Given the description of an element on the screen output the (x, y) to click on. 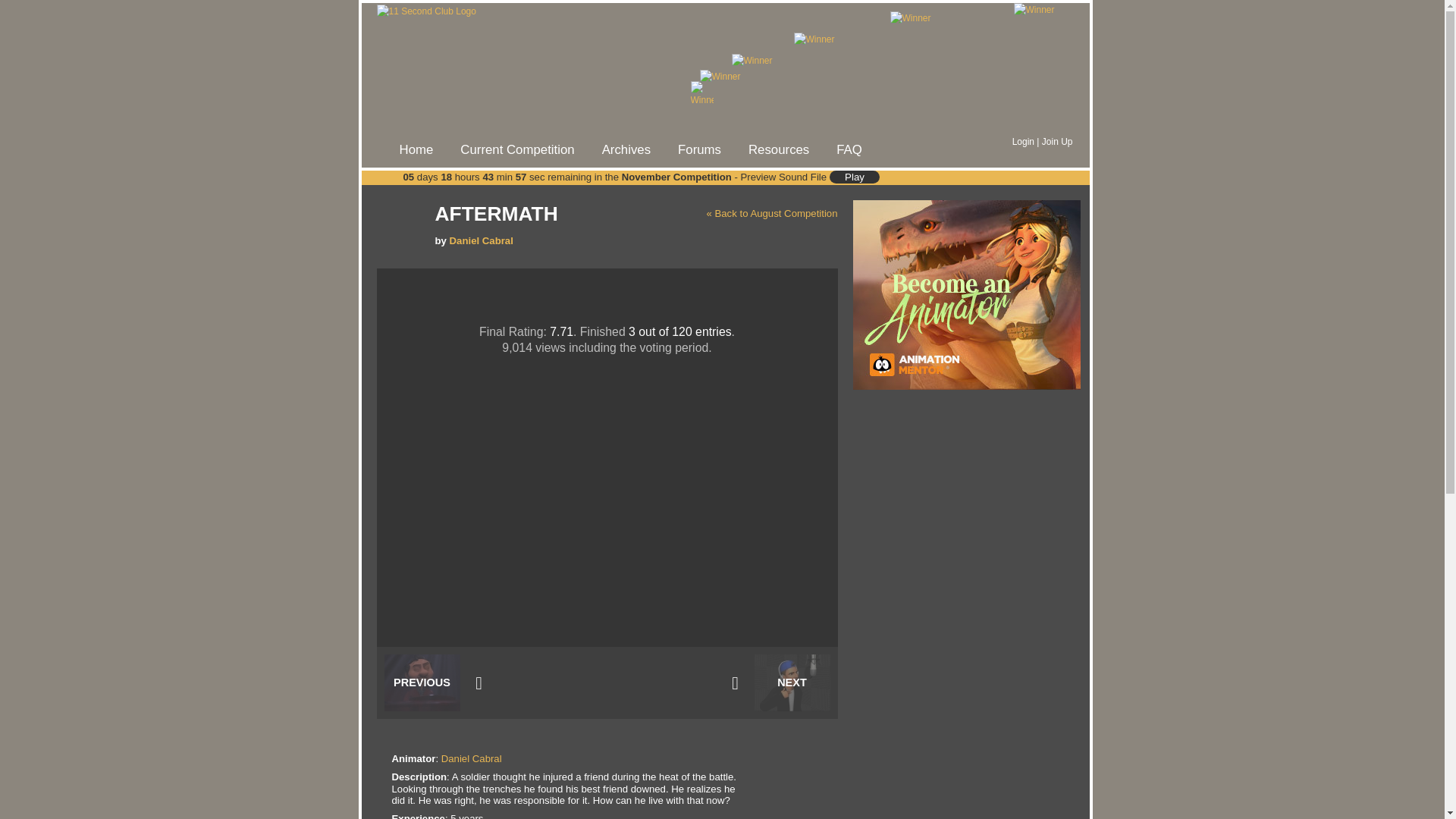
PREVIOUS Element type: text (421, 682)
Home Element type: text (415, 149)
Daniel Cabral Element type: text (471, 758)
Resources Element type: text (778, 149)
November Competition Element type: text (676, 176)
Play Element type: text (854, 176)
Login Element type: text (1023, 141)
Daniel Cabral Element type: text (481, 240)
Join Up Element type: text (1057, 141)
Current Competition Element type: text (516, 149)
Forums Element type: text (699, 149)
Archives Element type: text (626, 149)
FAQ Element type: text (848, 149)
NEXT Element type: text (791, 682)
